Given the description of an element on the screen output the (x, y) to click on. 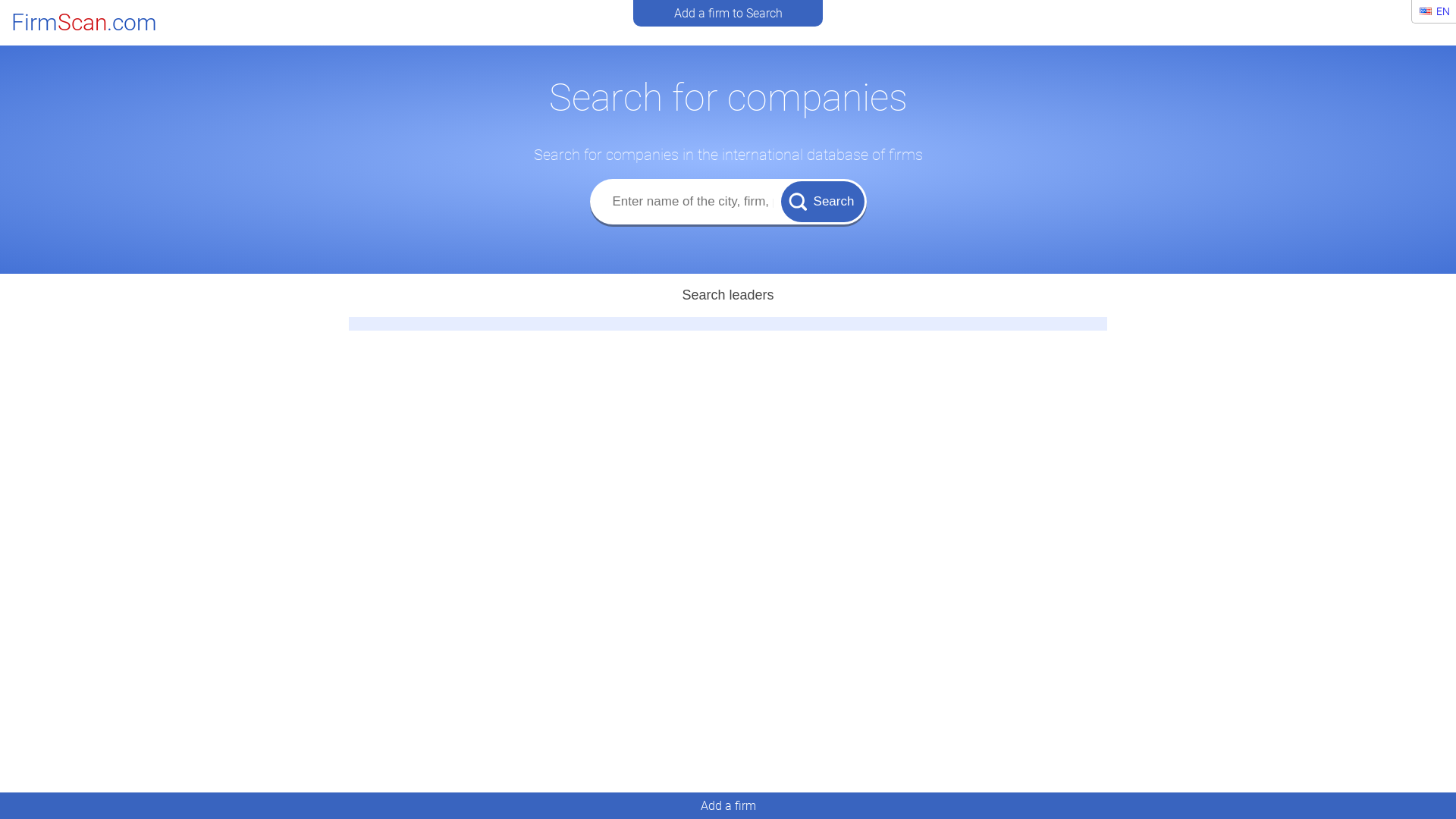
Search Element type: text (822, 200)
EN Element type: text (1434, 11)
